Given the description of an element on the screen output the (x, y) to click on. 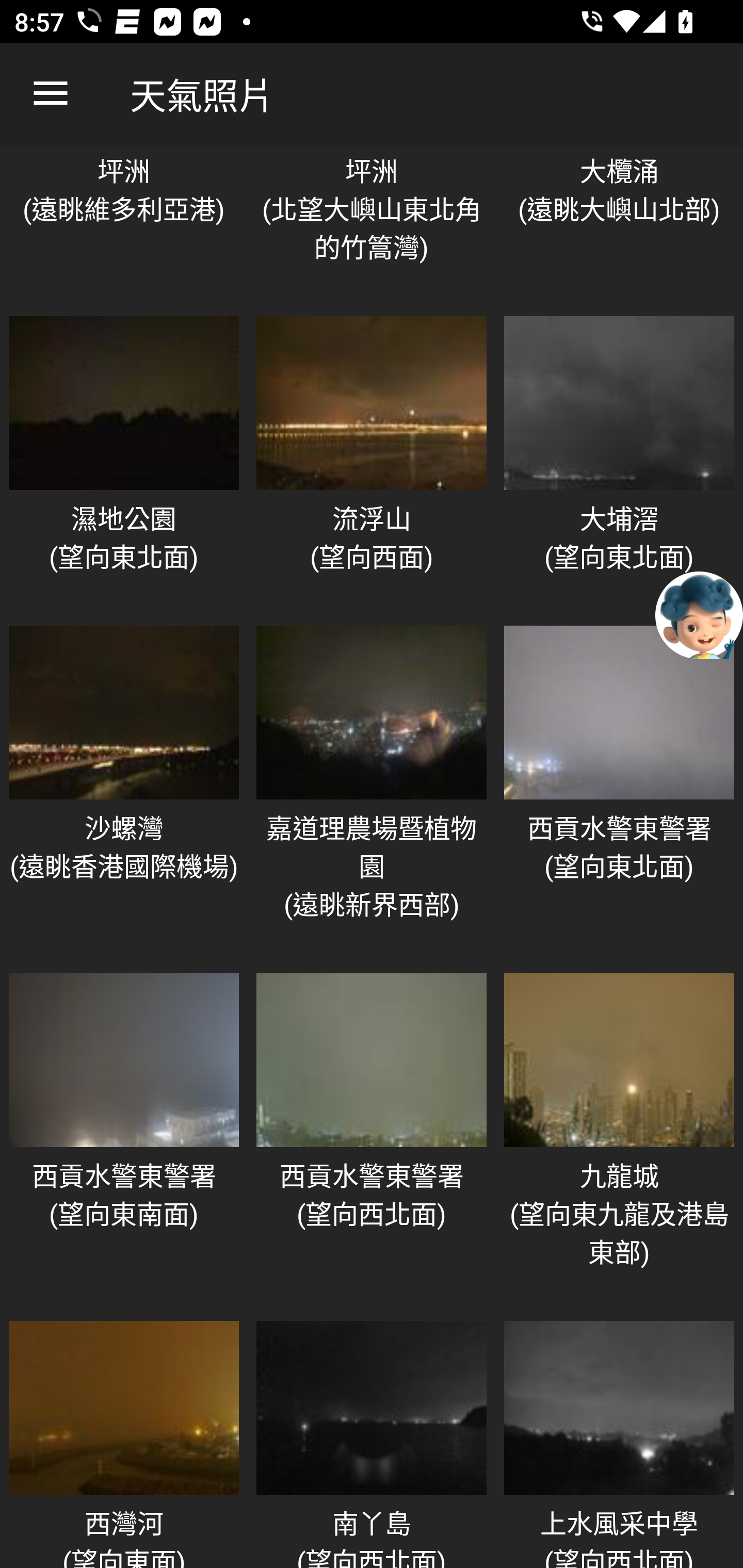
向上瀏覽 (50, 93)
坪洲
(遠眺維多利亞港) (123, 223)
坪洲
(北望大嶼山東北角的竹篙灣) (371, 223)
大欖涌
(遠眺大嶼山北部) (619, 223)
濕地公園
(望向東北面) (123, 460)
流浮山
(望向西面) (371, 460)
大埔滘
(望向東北面) (619, 460)
聊天機械人 (699, 614)
沙螺灣
(遠眺香港國際機場) (123, 788)
嘉道理農場暨植物園
(遠眺新界西部) (371, 788)
西貢水警東警署
(望向東北面) (619, 788)
西貢水警東警署
(望向東南面) (123, 1135)
西貢水警東警署
(望向西北面) (371, 1135)
九龍城
(望向東九龍及港島東部) (619, 1135)
西灣河
(望向東面) (123, 1440)
南丫島
(望向西北面) (371, 1440)
上水風采中學
(望向西北面) (619, 1440)
